Given the description of an element on the screen output the (x, y) to click on. 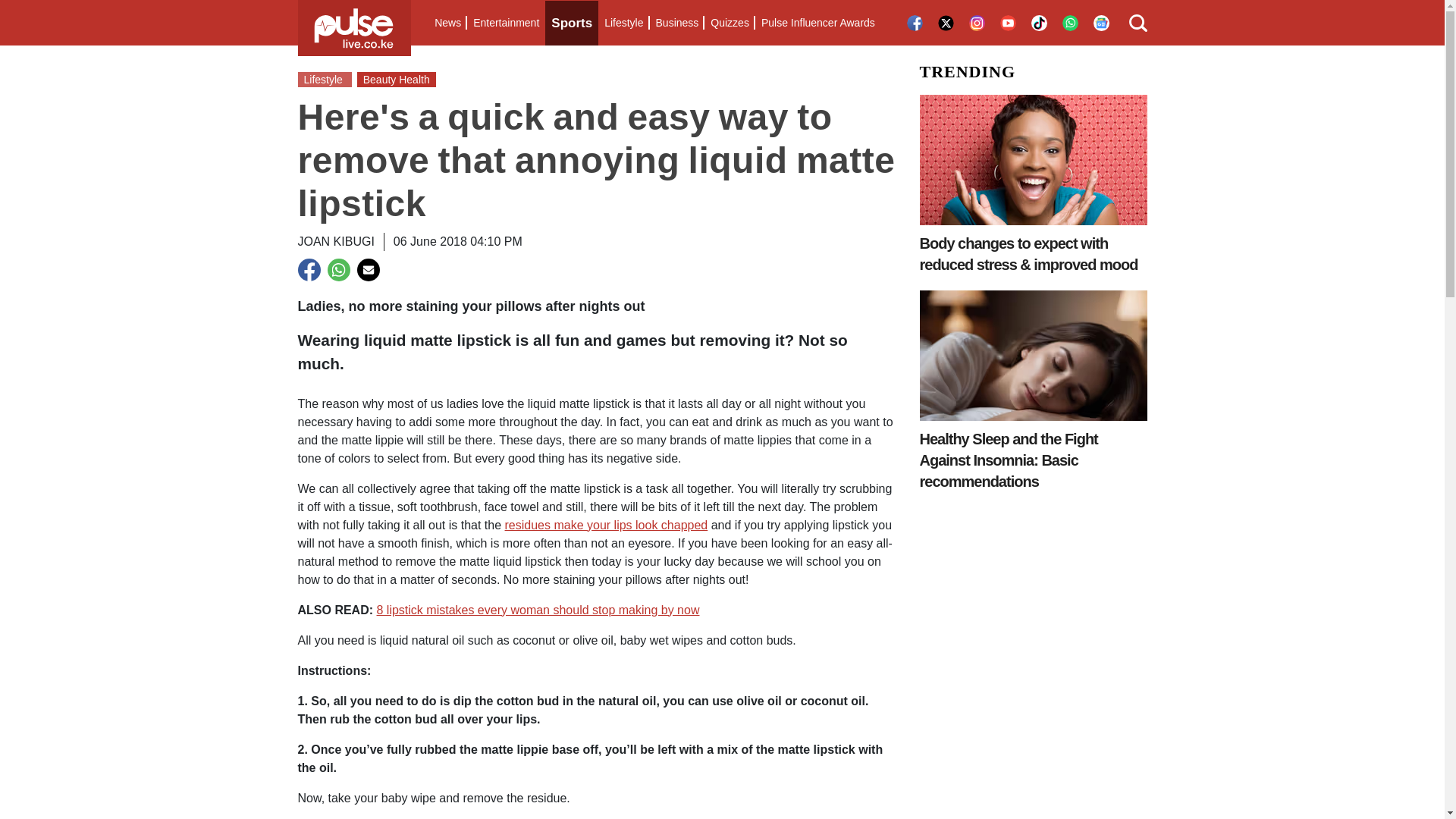
Quizzes (729, 22)
Business (676, 22)
Lifestyle (623, 22)
Pulse Influencer Awards (817, 22)
Entertainment (505, 22)
Sports (571, 22)
